Given the description of an element on the screen output the (x, y) to click on. 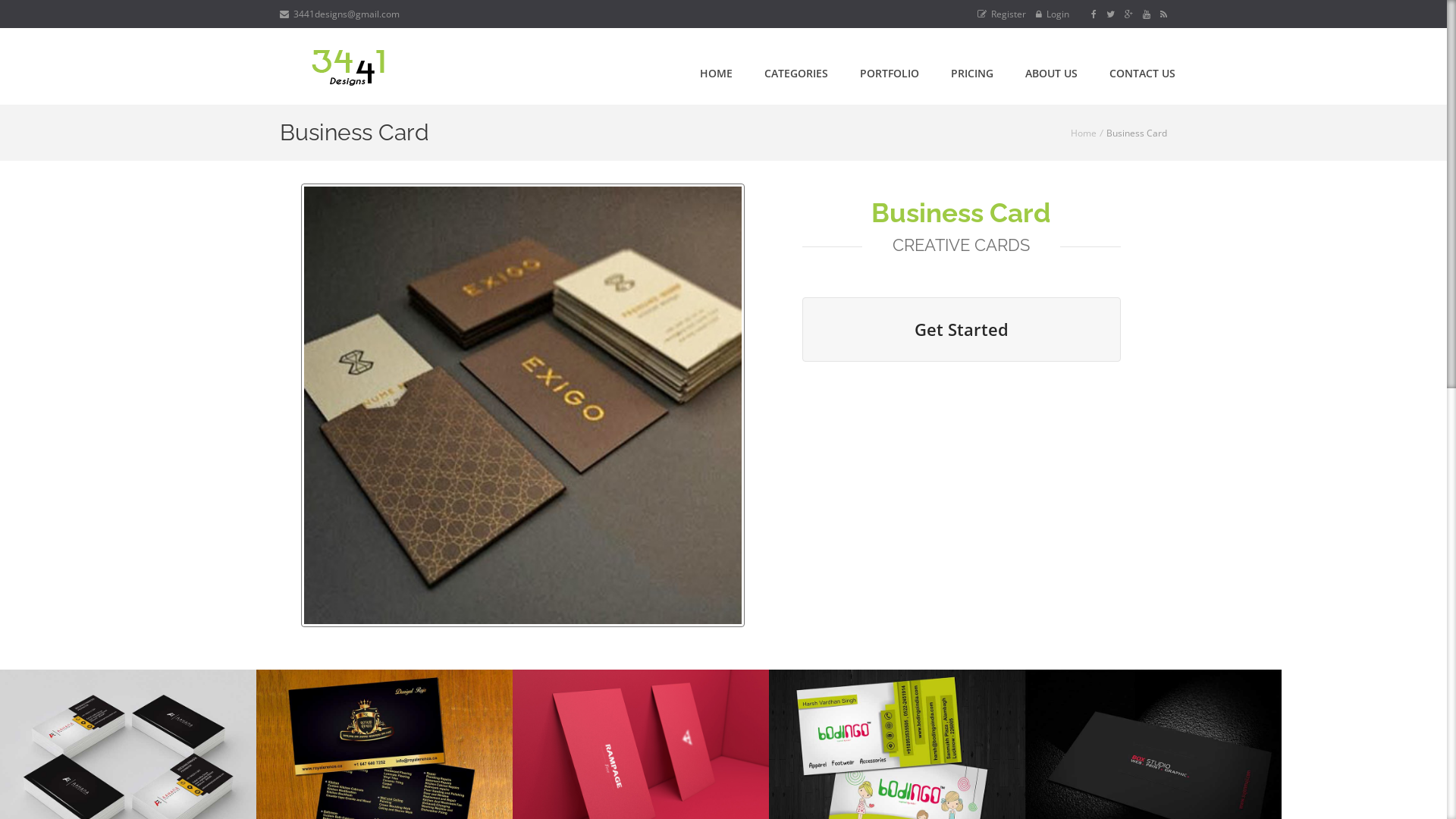
HOME Element type: text (716, 73)
  3441designs@gmail.com Element type: text (339, 13)
ABOUT US Element type: text (1051, 73)
Get Started Element type: text (961, 329)
PRICING Element type: text (972, 73)
  Login Element type: text (1052, 13)
CONTACT US Element type: text (1142, 73)
PORTFOLIO Element type: text (889, 73)
  Register Element type: text (1001, 13)
Home Element type: text (1083, 132)
CATEGORIES Element type: text (796, 73)
